Given the description of an element on the screen output the (x, y) to click on. 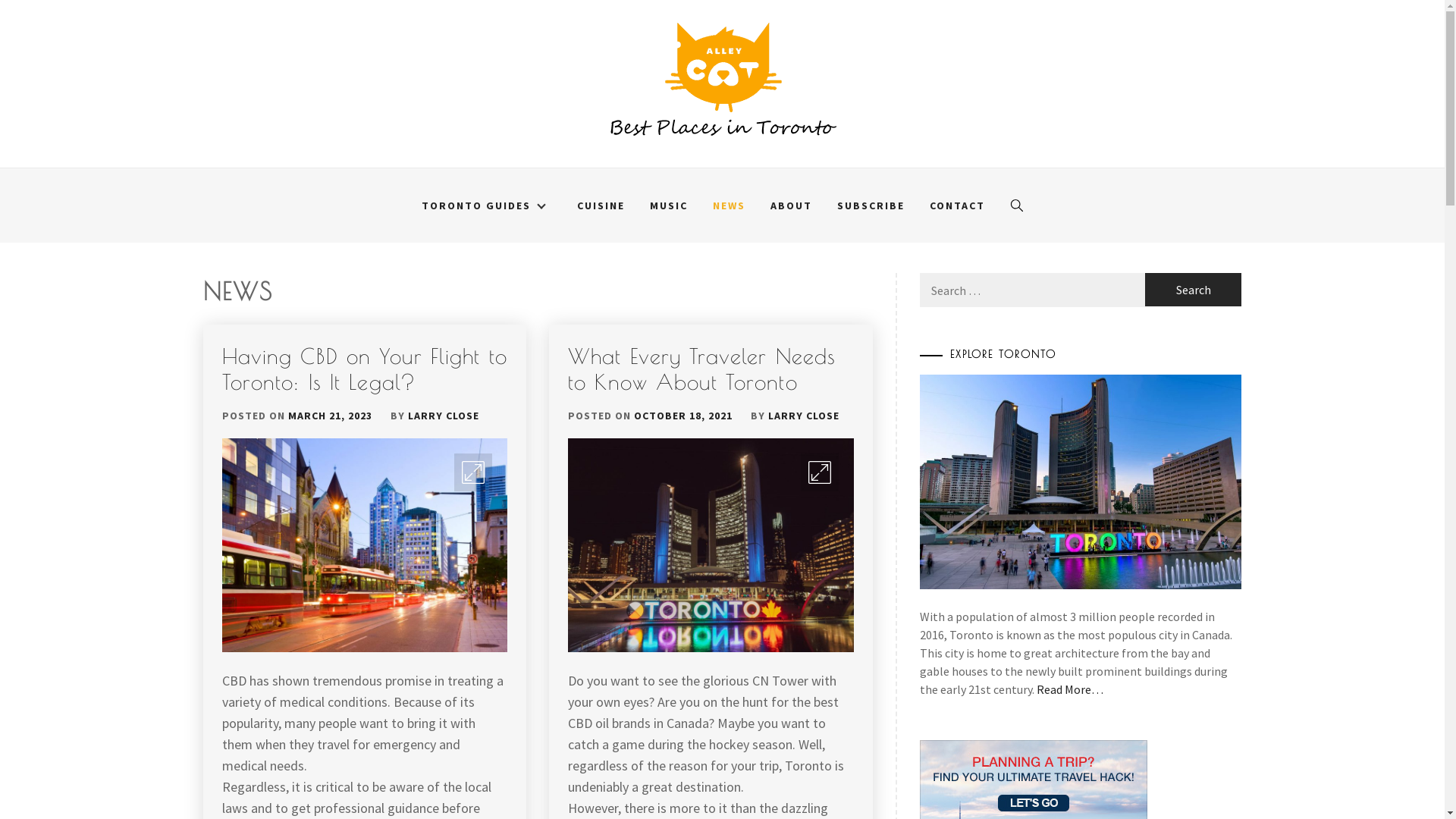
SUBSCRIBE Element type: text (870, 205)
TORONTO GUIDES Element type: text (485, 205)
LARRY CLOSE Element type: text (443, 415)
MARCH 21, 2023 Element type: text (330, 415)
MUSIC Element type: text (668, 205)
OCTOBER 18, 2021 Element type: text (682, 415)
Search Element type: text (797, 409)
NEWS Element type: text (728, 205)
Search Element type: text (1193, 289)
ABOUT Element type: text (790, 205)
LARRY CLOSE Element type: text (803, 415)
CONTACT Element type: text (956, 205)
CUISINE Element type: text (600, 205)
Having CBD on Your Flight to Toronto: Is It Legal? Element type: text (363, 368)
What Every Traveler Needs to Know About Toronto Element type: text (701, 368)
